Given the description of an element on the screen output the (x, y) to click on. 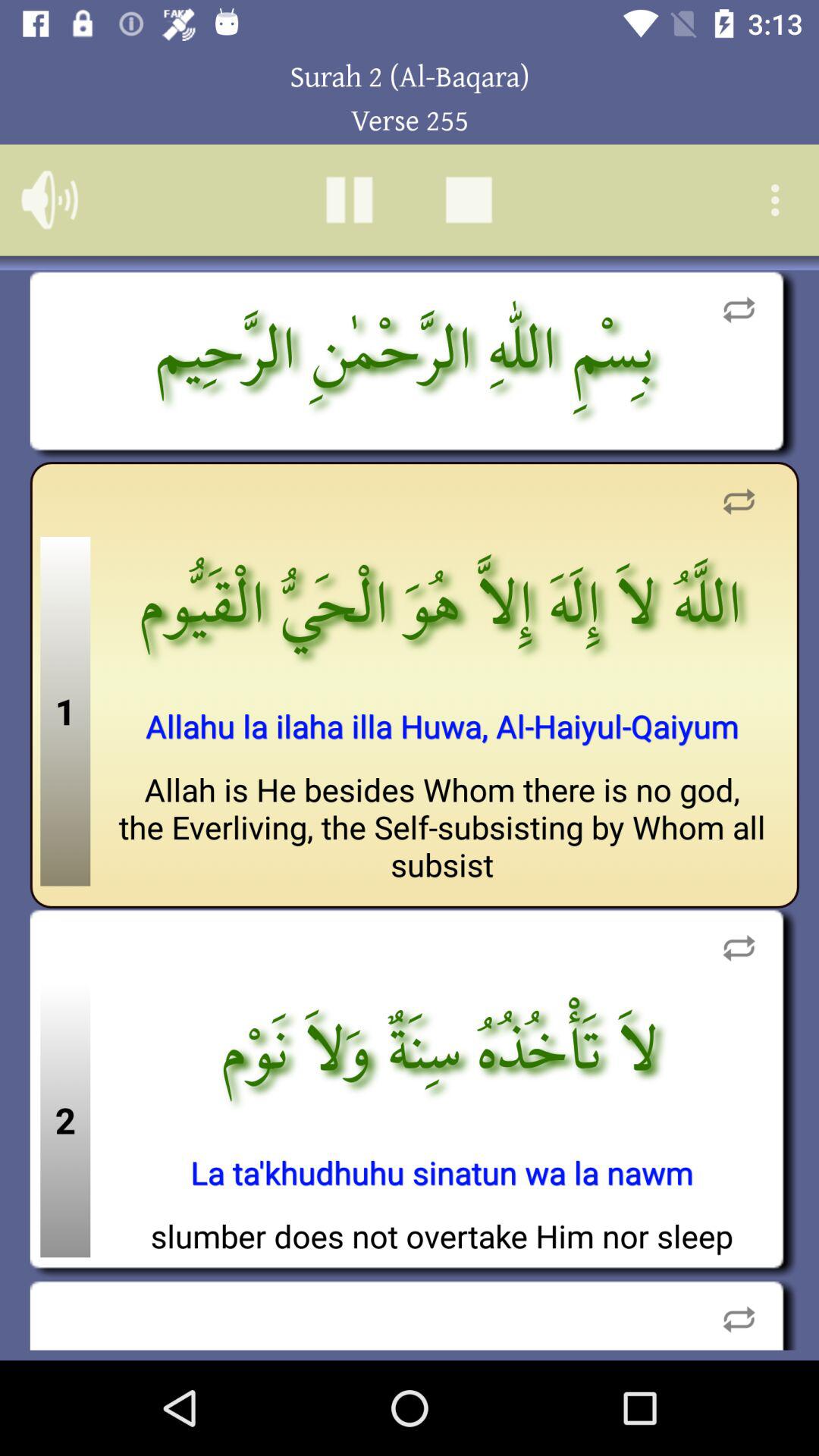
replay verse (738, 1314)
